Given the description of an element on the screen output the (x, y) to click on. 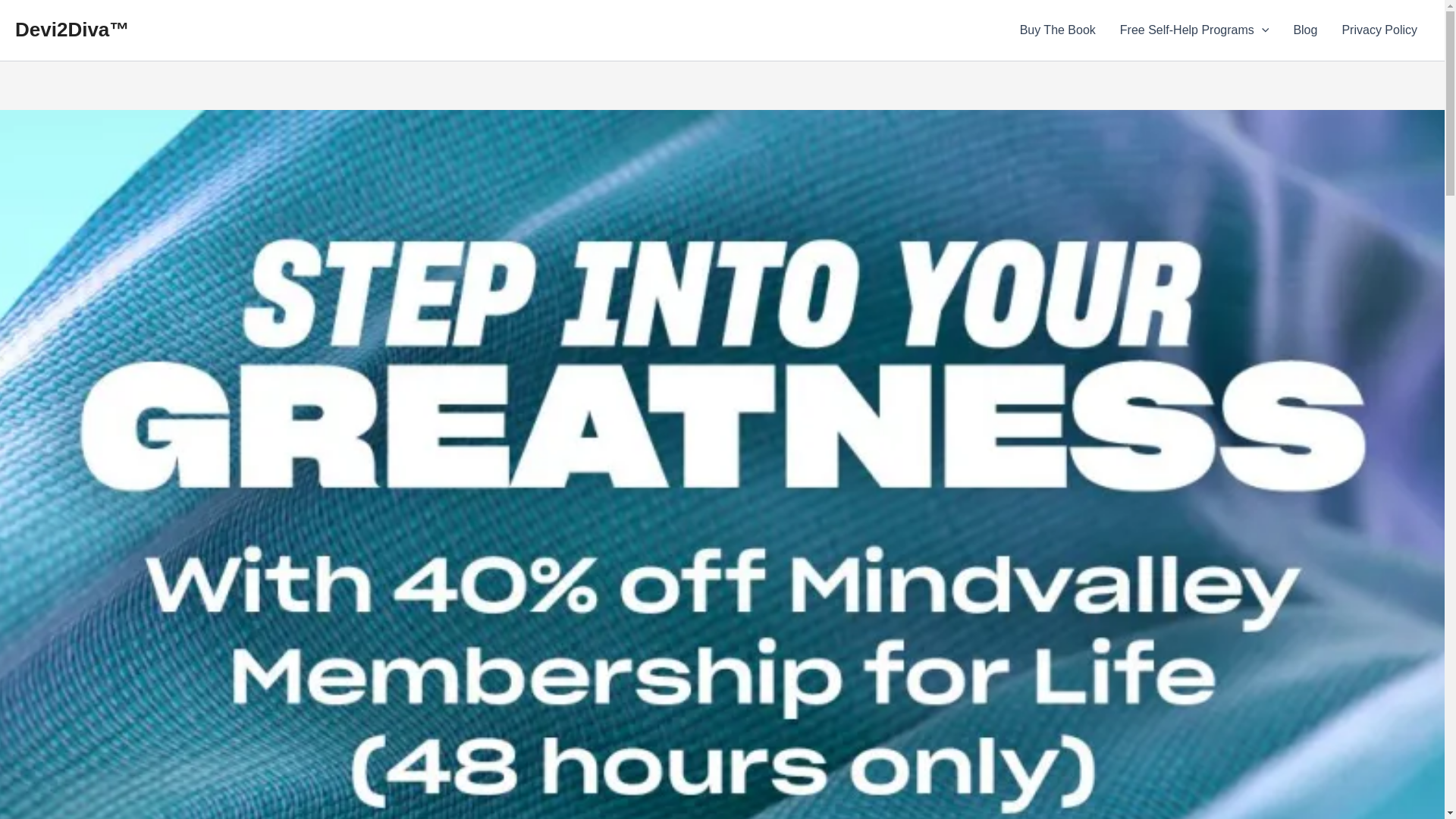
Privacy Policy (1379, 30)
Free Self-Help Programs (1194, 30)
Buy The Book (1057, 30)
